Given the description of an element on the screen output the (x, y) to click on. 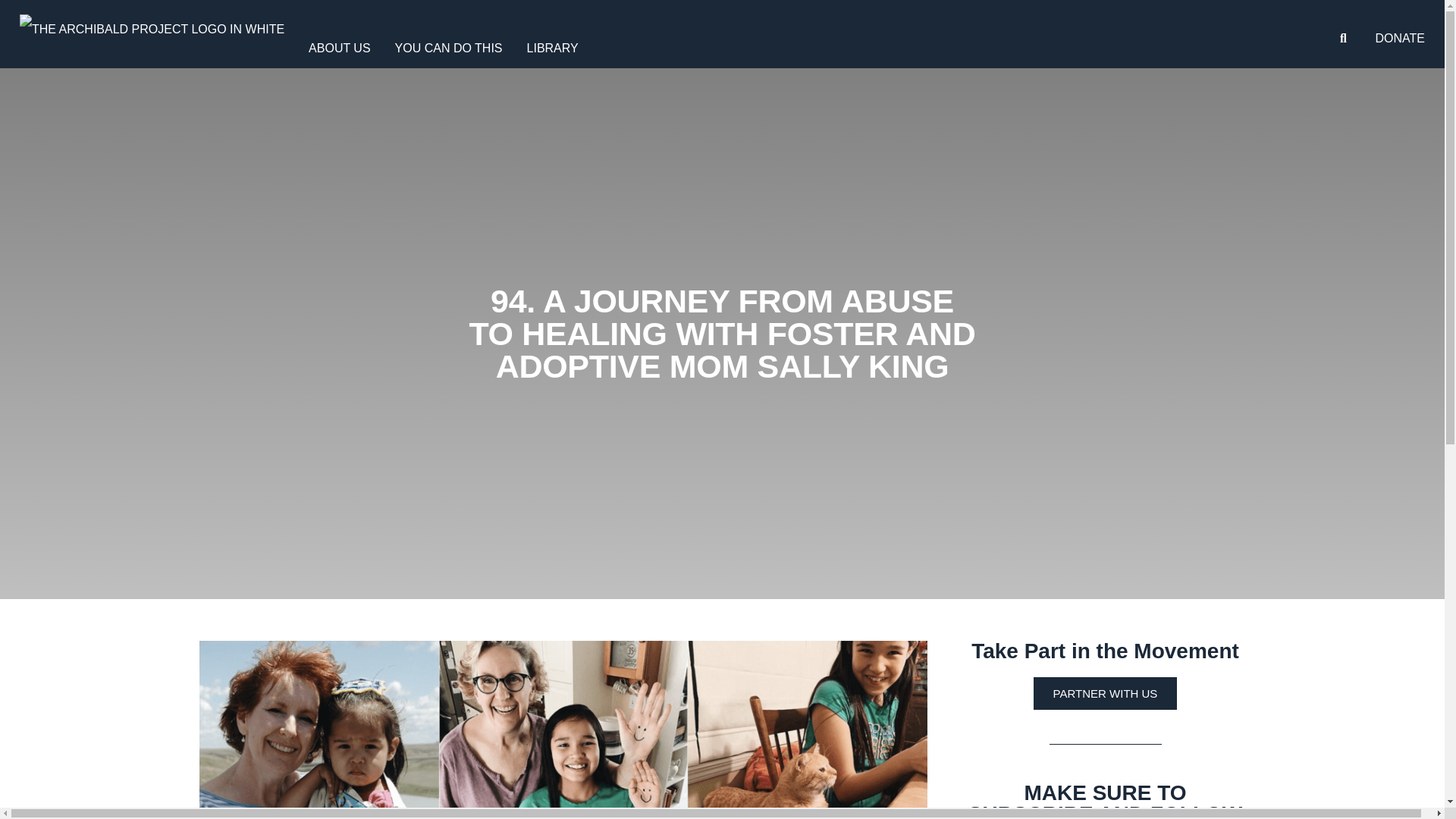
ABOUT US (339, 47)
YOU CAN DO THIS (448, 47)
LIBRARY (553, 47)
